Given the description of an element on the screen output the (x, y) to click on. 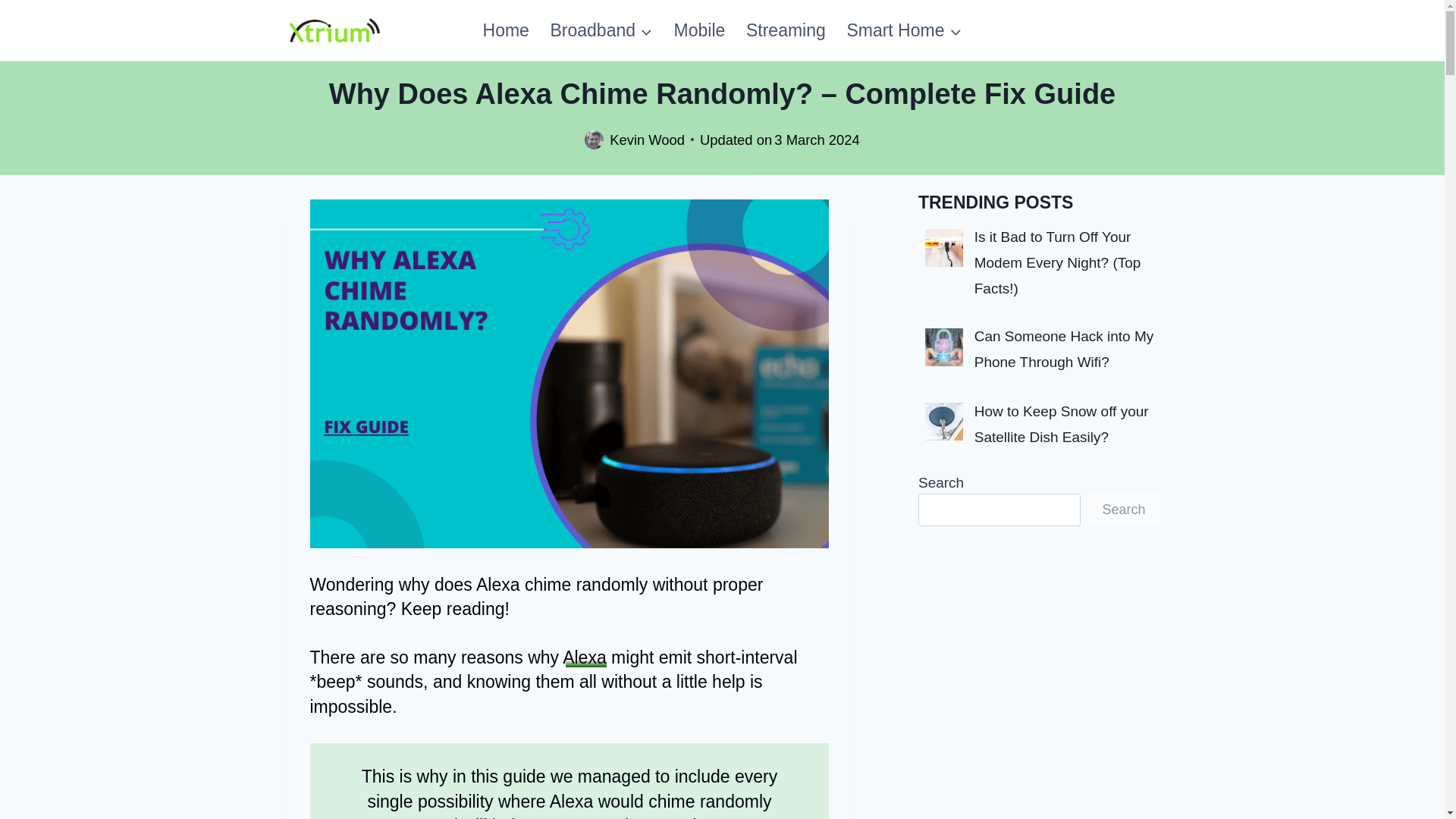
Alexa (584, 657)
Can Someone Hack into My Phone Through Wifi? (1064, 349)
Kevin Wood (647, 139)
Broadband (601, 30)
How to Keep Snow off your Satellite Dish Easily? (1061, 424)
Streaming (785, 30)
Smart Home (903, 30)
Search (1122, 510)
Home (505, 30)
Mobile (699, 30)
